Given the description of an element on the screen output the (x, y) to click on. 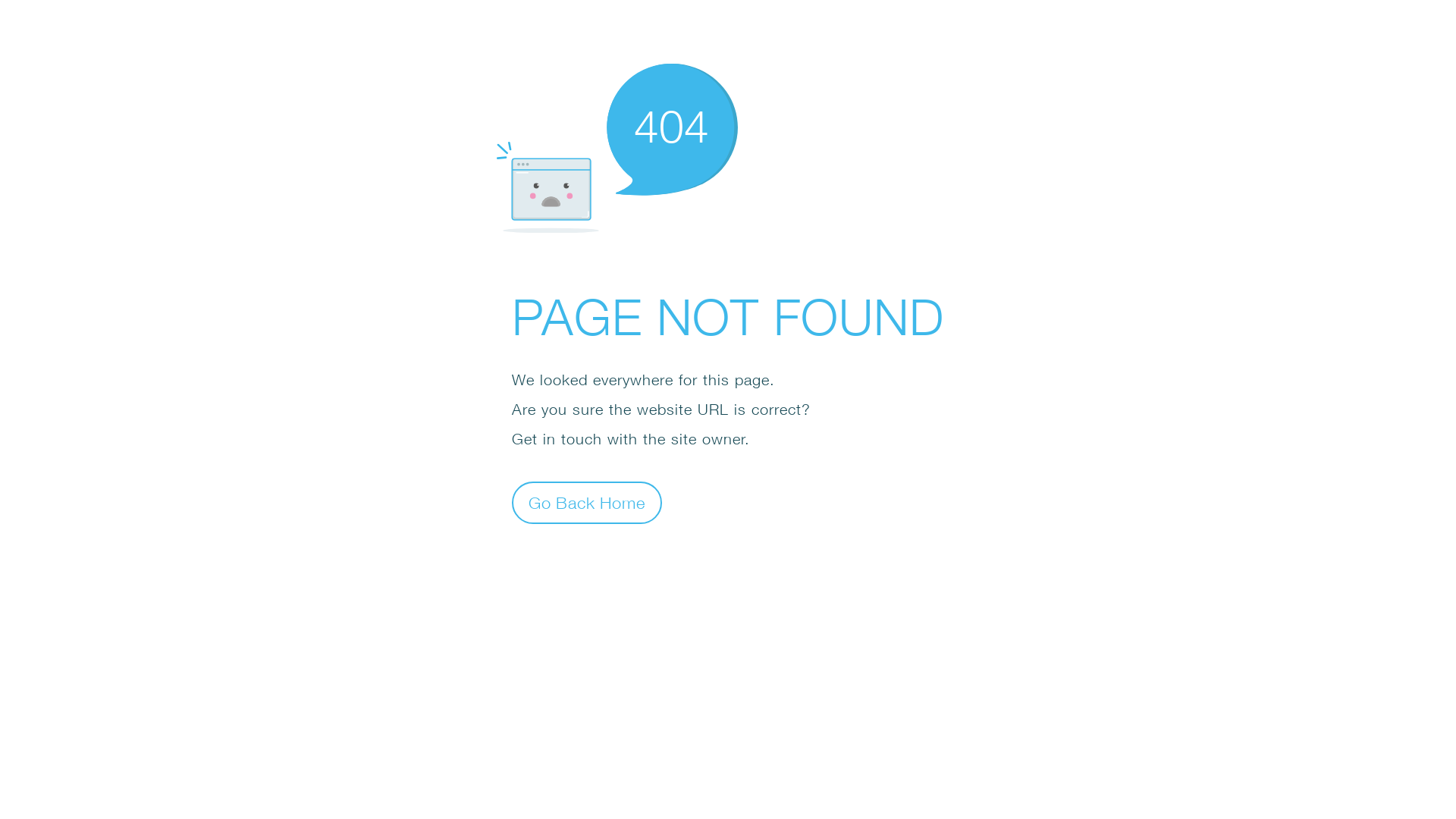
Go Back Home Element type: text (586, 502)
